Given the description of an element on the screen output the (x, y) to click on. 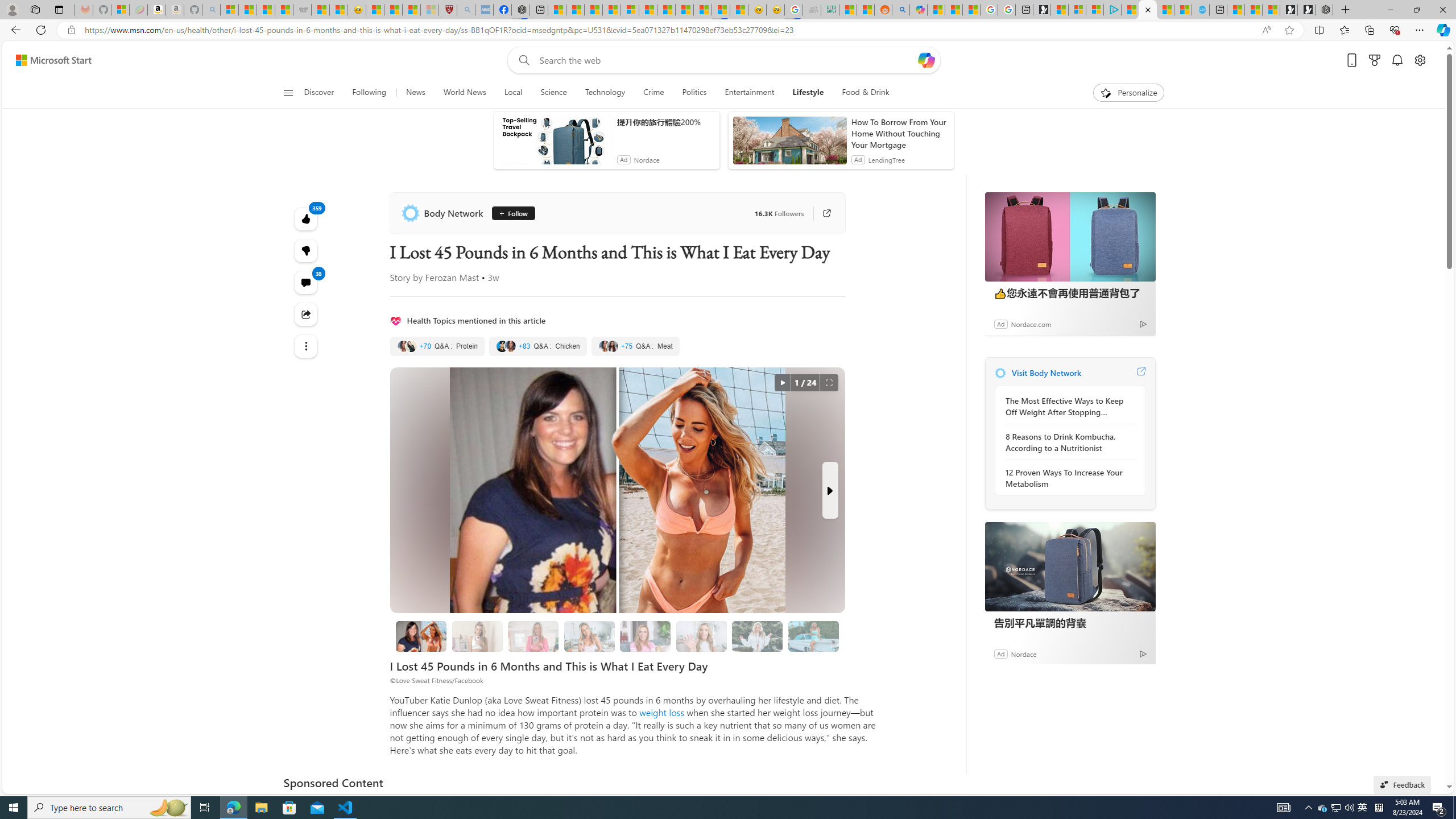
Class: progress (813, 633)
autorotate button (782, 382)
359 (305, 250)
13 If You Want to See Results, Be Consistent (645, 635)
359 Like (305, 218)
